Given the description of an element on the screen output the (x, y) to click on. 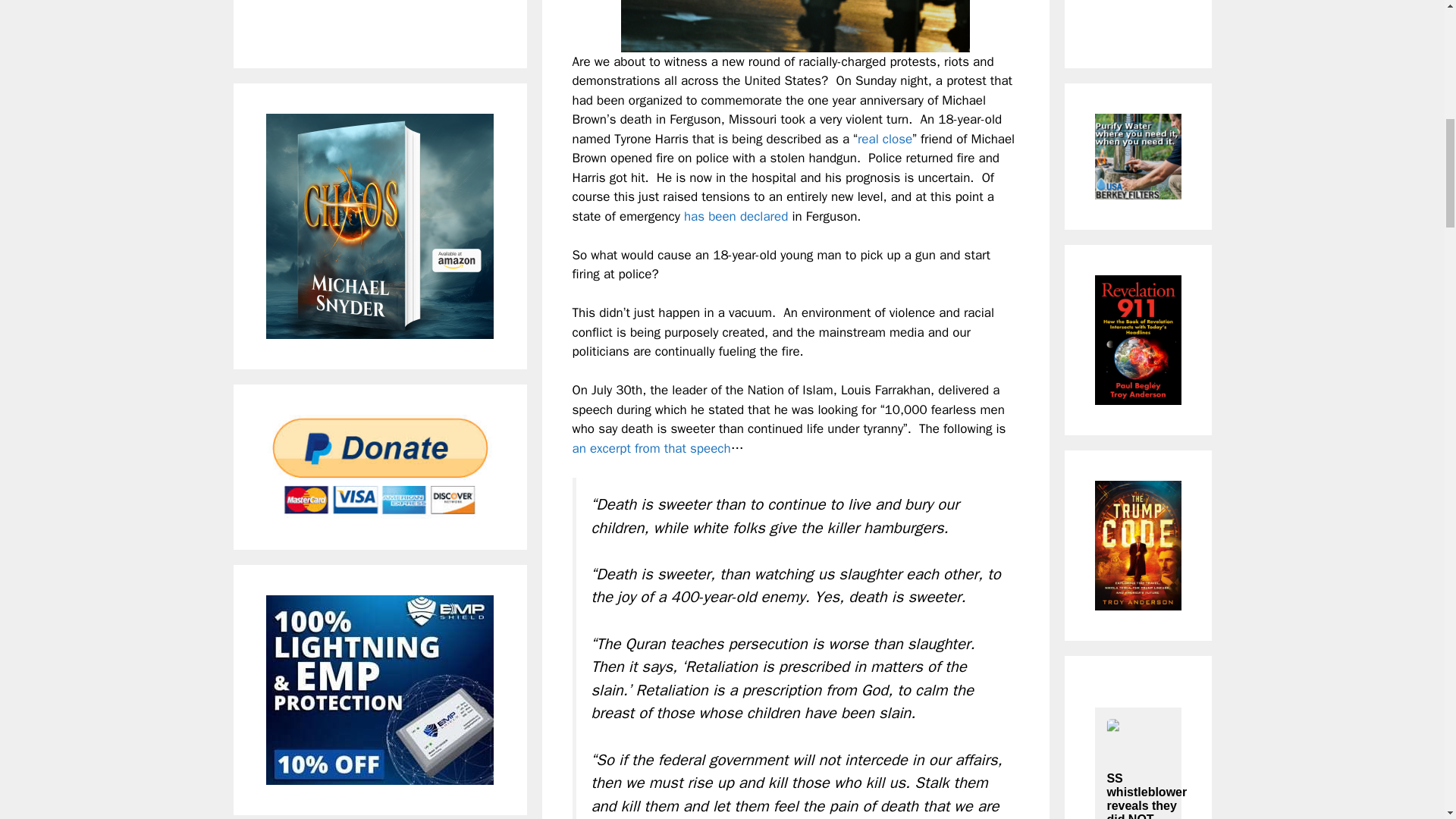
real close (884, 139)
real close (884, 139)
an excerpt from that speech (651, 448)
has been declared (735, 216)
an excerpt from that speech (651, 448)
has been declared (735, 216)
